Given the description of an element on the screen output the (x, y) to click on. 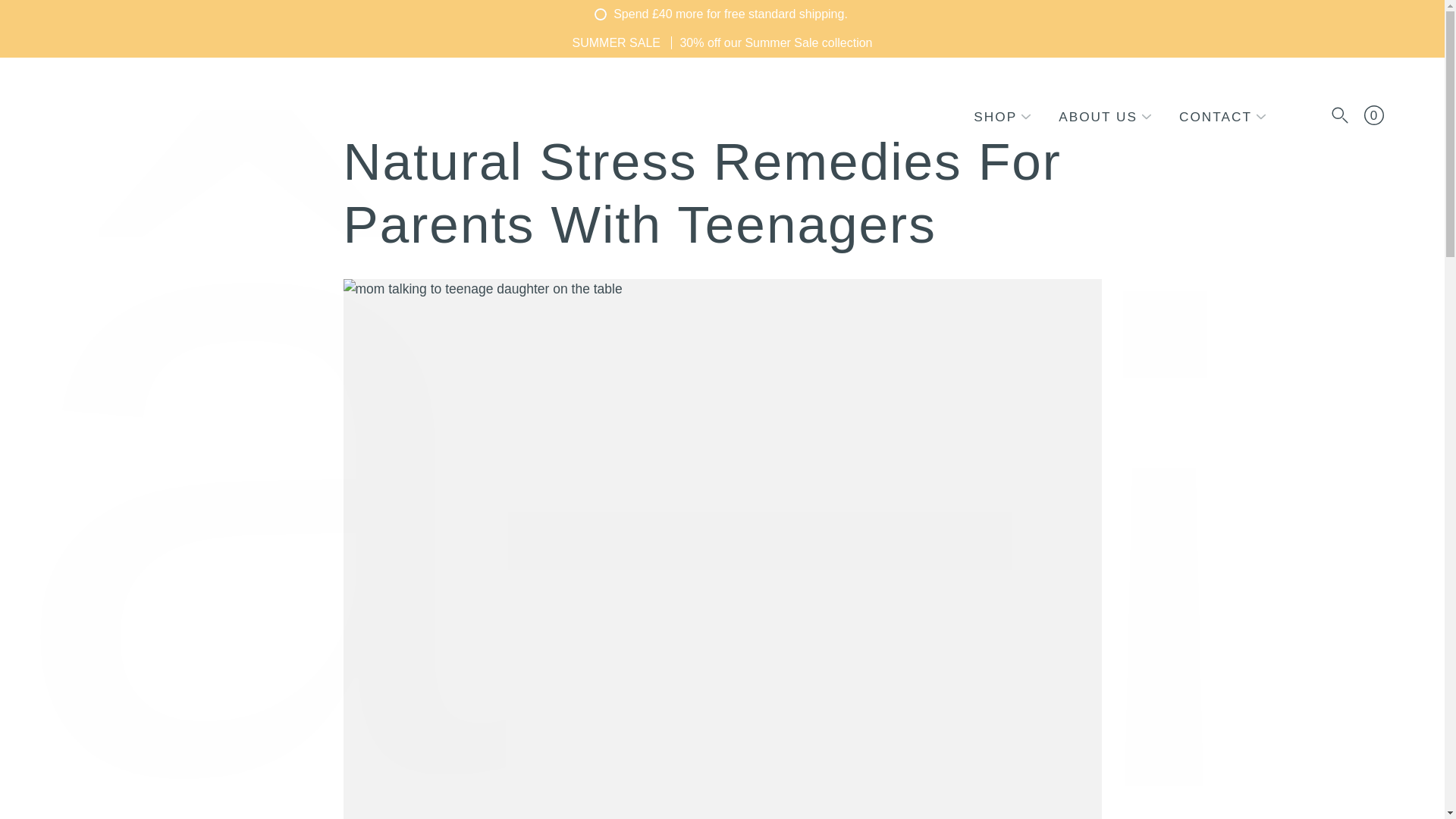
ABOUT US (1097, 116)
SHOP (995, 116)
CONTACT (1215, 116)
